Given the description of an element on the screen output the (x, y) to click on. 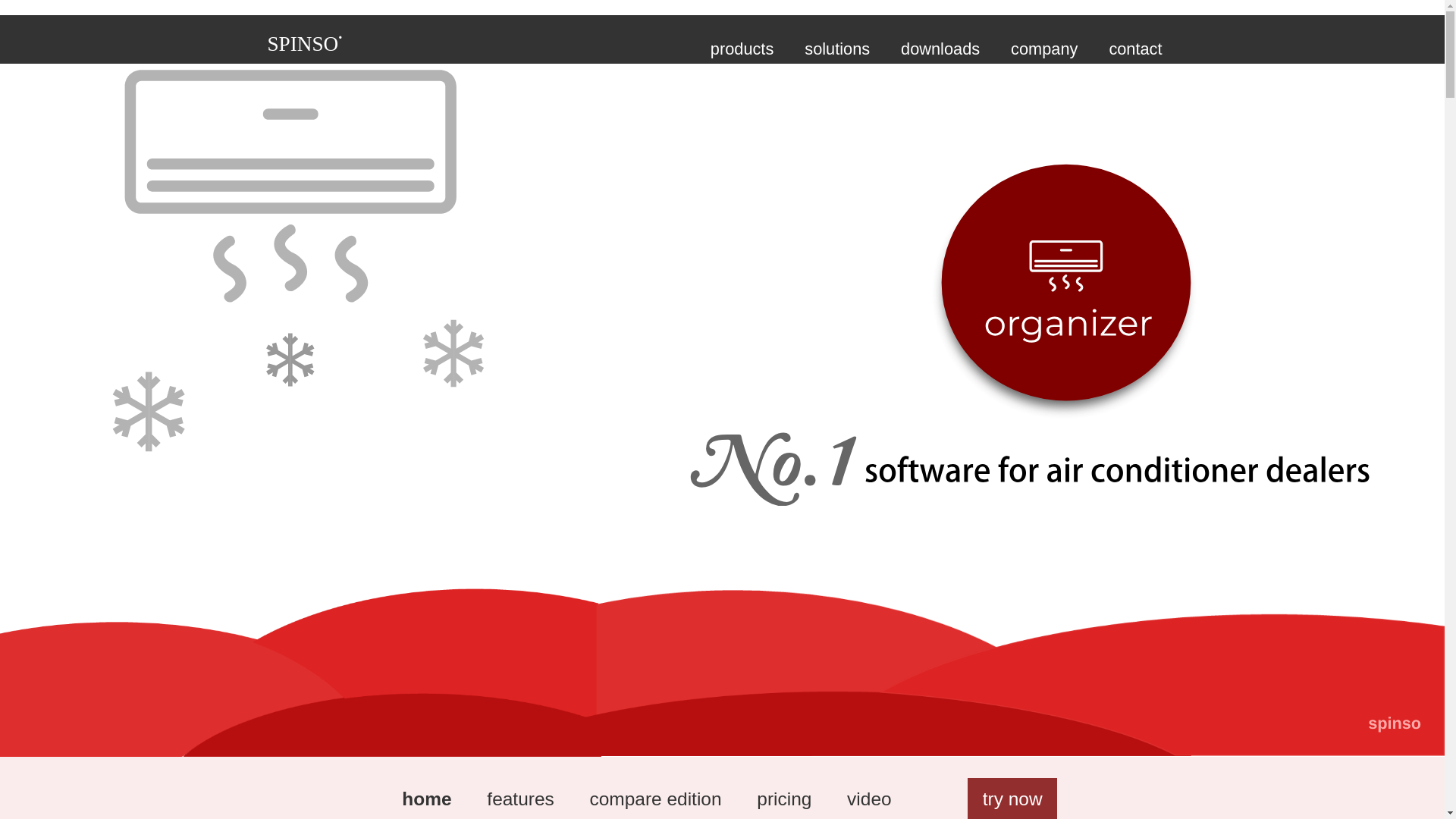
home (426, 798)
contact (1134, 46)
company (1044, 46)
features (520, 798)
solutions (837, 46)
products (742, 46)
compare edition (655, 798)
try now (1012, 798)
pricing (784, 798)
downloads (939, 46)
